Given the description of an element on the screen output the (x, y) to click on. 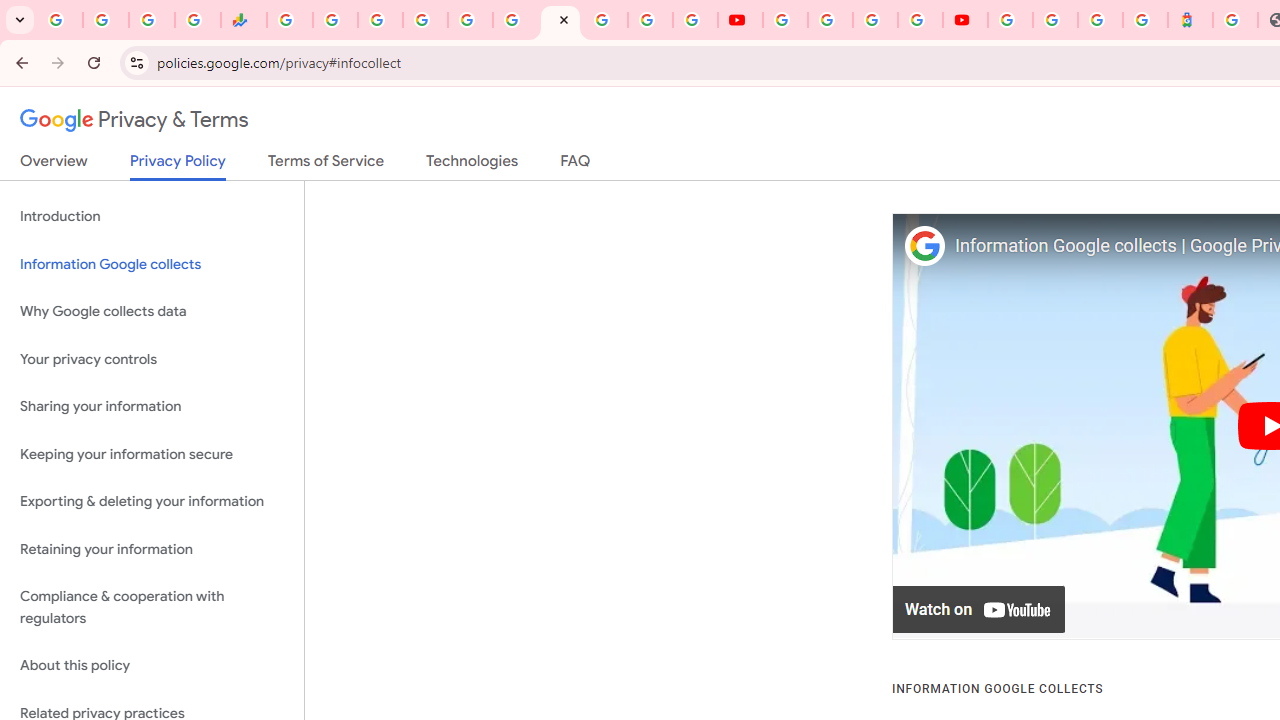
Why Google collects data (152, 312)
Information Google collects (152, 263)
Your privacy controls (152, 358)
Privacy Checkup (695, 20)
YouTube (740, 20)
Keeping your information secure (152, 453)
About this policy (152, 666)
Watch on YouTube (979, 610)
